Given the description of an element on the screen output the (x, y) to click on. 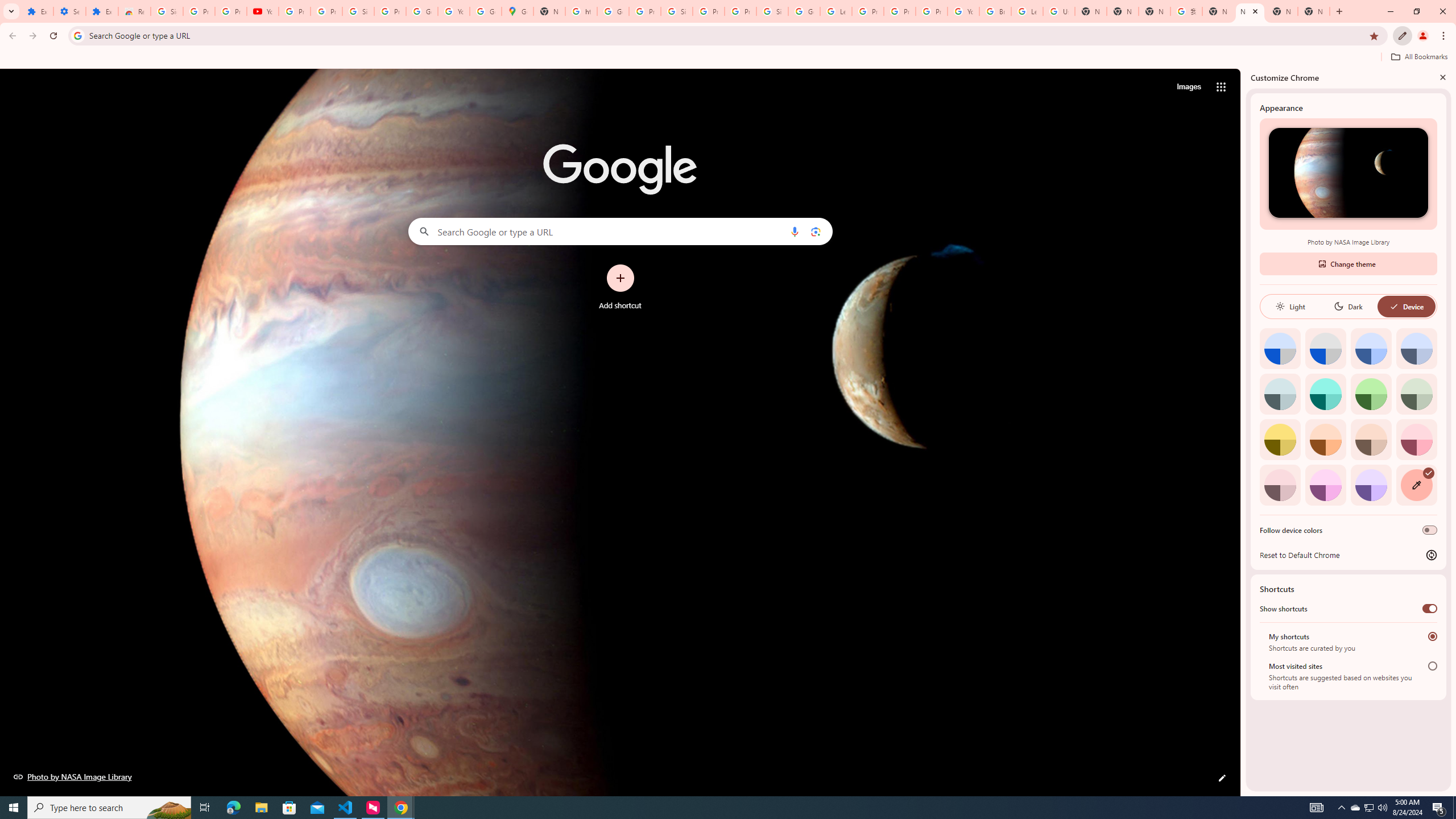
Privacy Help Center - Policies Help (868, 11)
Sign in - Google Accounts (166, 11)
Photo by NASA Image Library (1348, 172)
Rose (1416, 439)
Apricot (1371, 439)
AutomationID: baseSvg (1394, 306)
Citron (1279, 439)
Google Maps (517, 11)
